Given the description of an element on the screen output the (x, y) to click on. 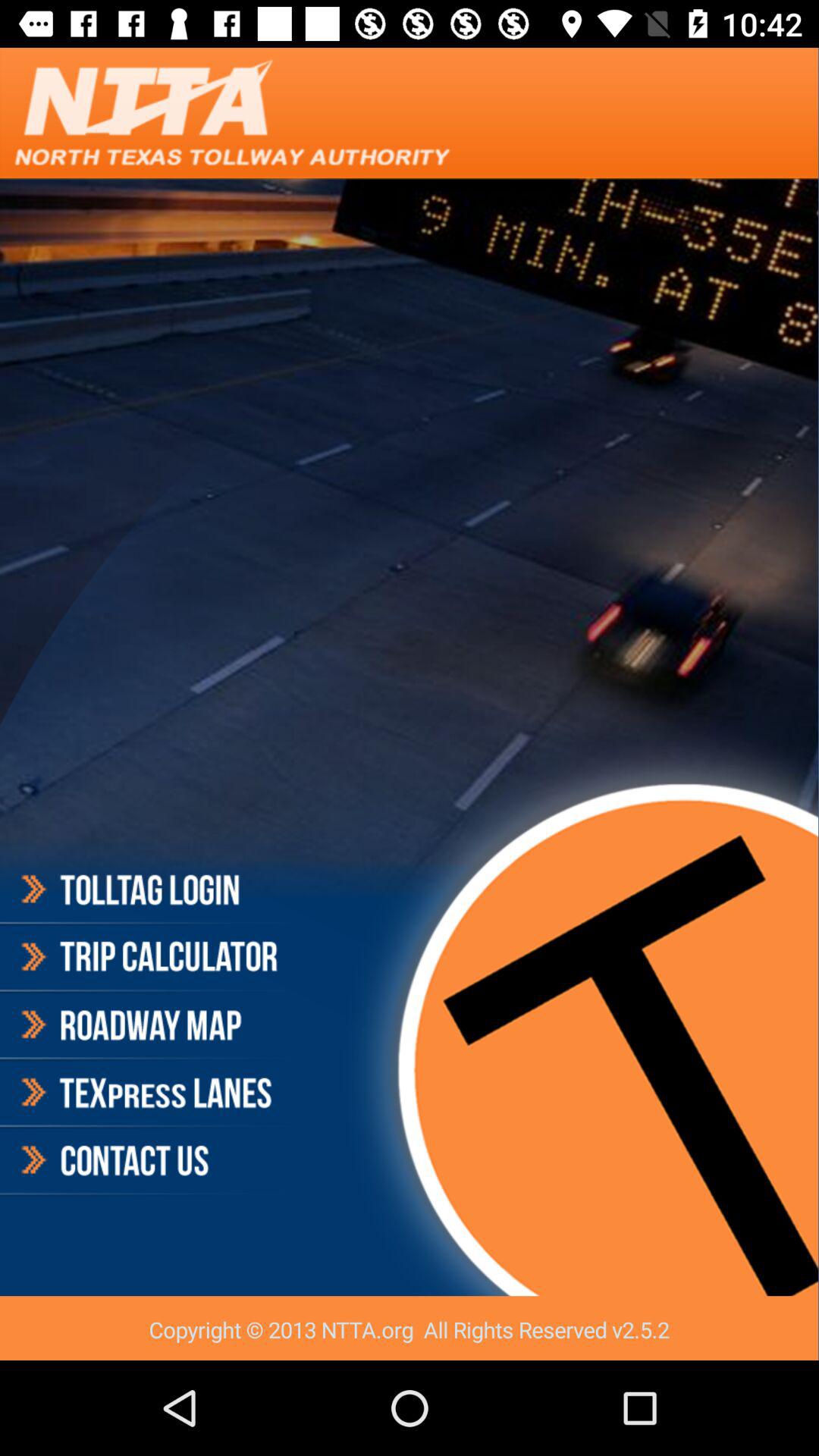
contact (147, 1160)
